Given the description of an element on the screen output the (x, y) to click on. 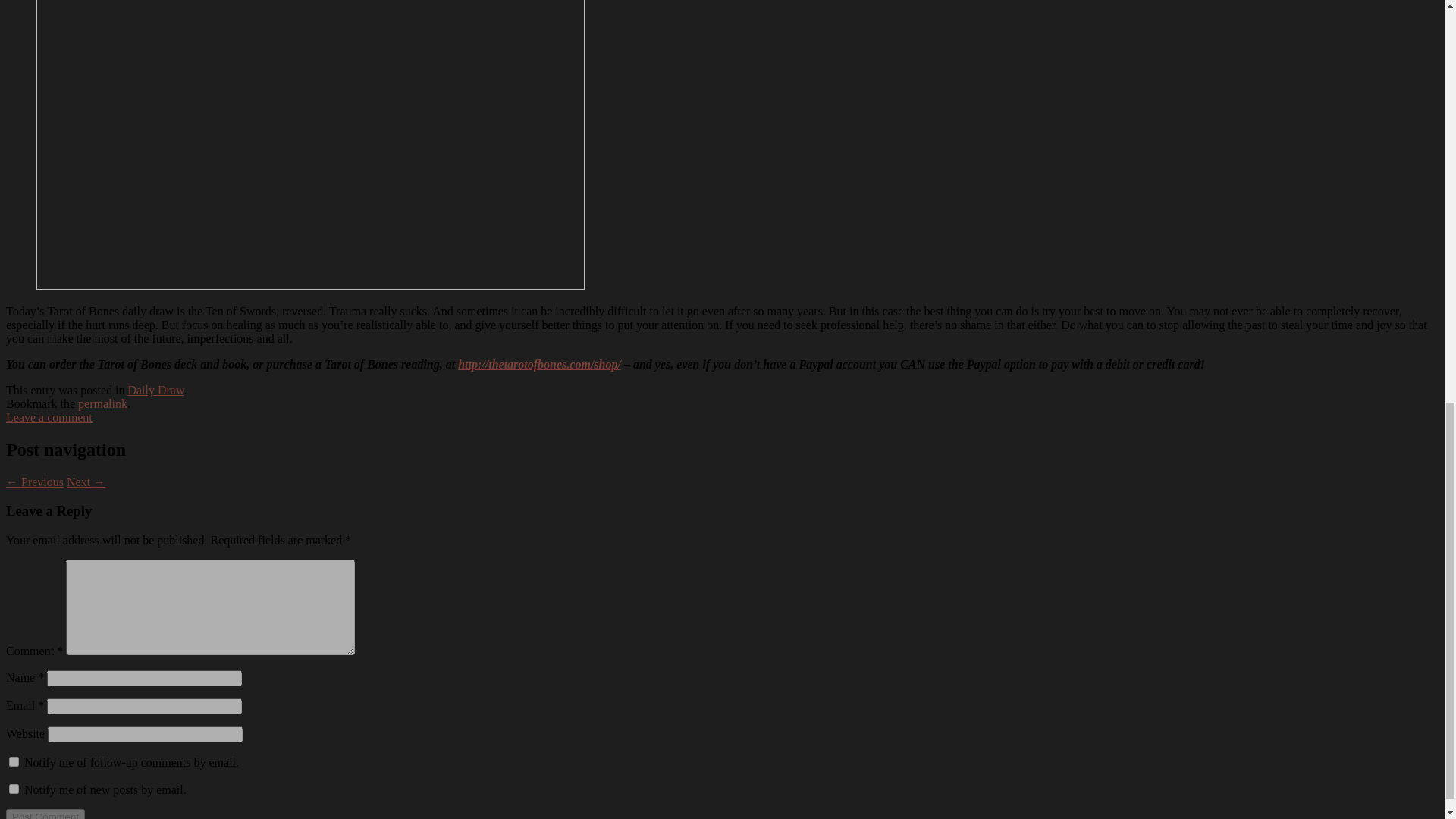
Leave a comment (49, 417)
subscribe (13, 788)
Daily Draw (155, 390)
subscribe (13, 761)
permalink (103, 403)
